Given the description of an element on the screen output the (x, y) to click on. 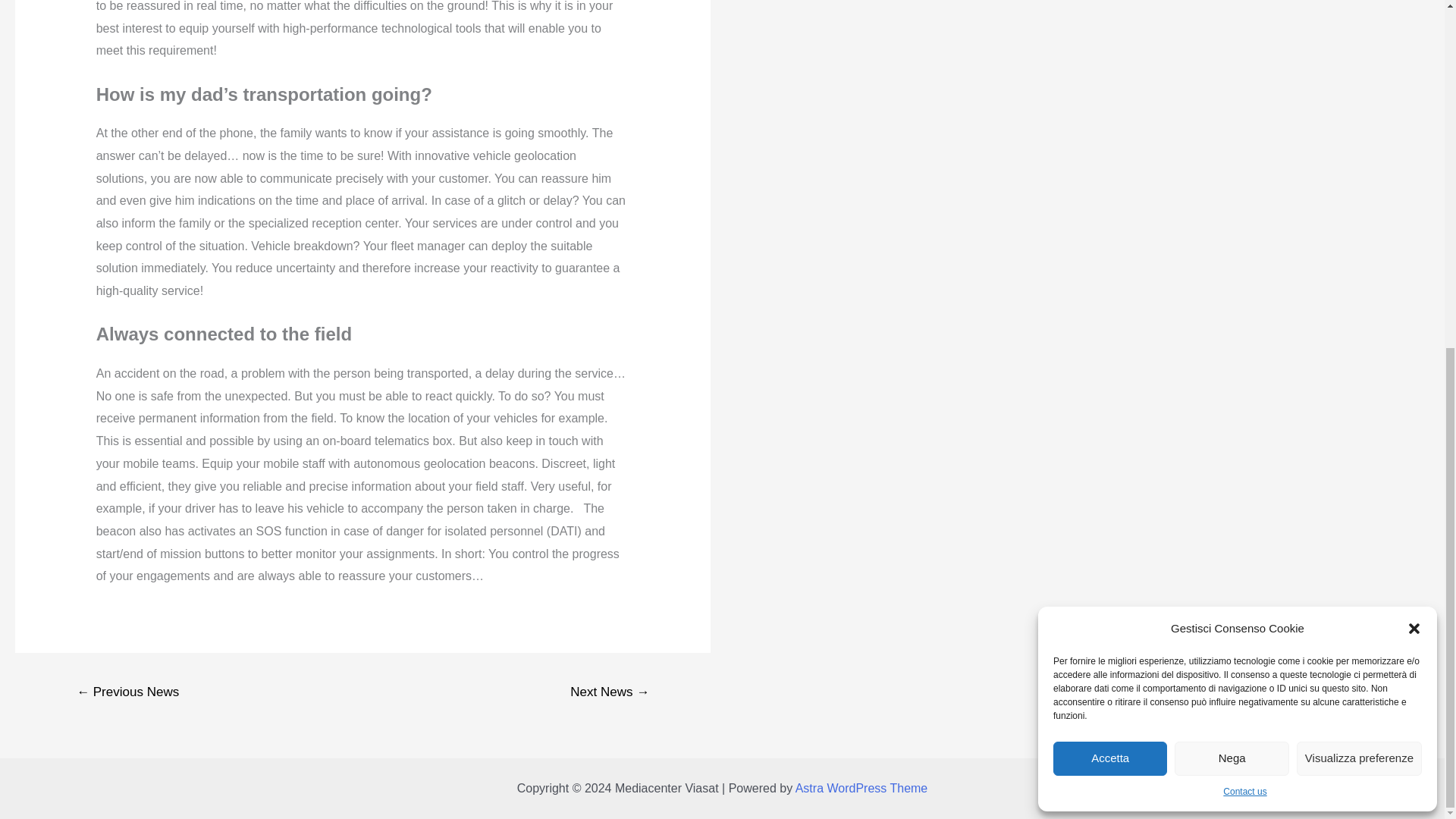
Nega (1231, 157)
Visualizza preferenze (1359, 157)
Contact us (1244, 190)
Astra WordPress Theme (861, 788)
Accetta (1109, 157)
